Given the description of an element on the screen output the (x, y) to click on. 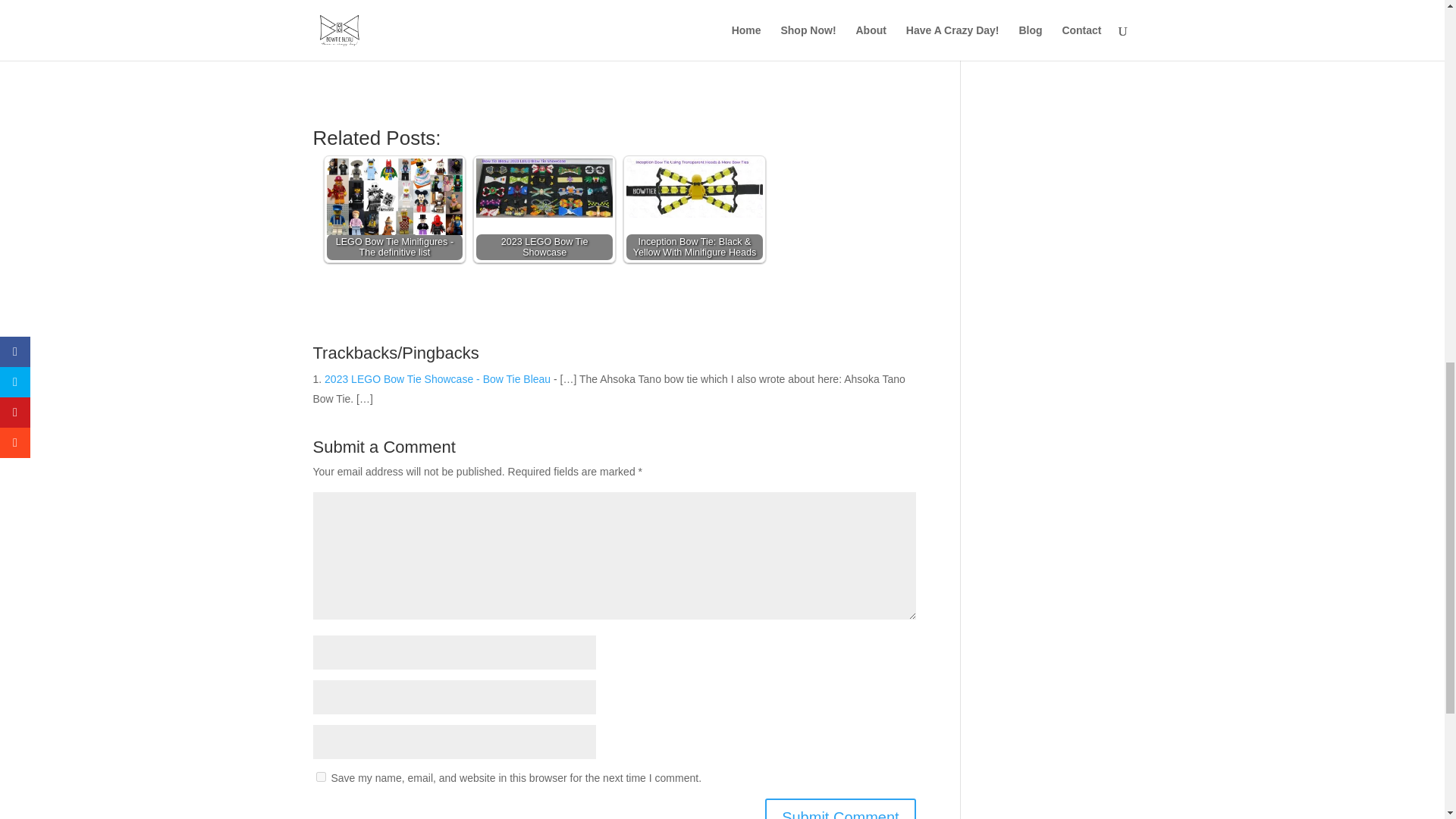
Submit Comment (840, 808)
2023 LEGO Bow Tie Showcase - Bow Tie Bleau (437, 378)
2023 LEGO Bow Tie Showcase (544, 209)
2023 LEGO Bow Tie Showcase (544, 188)
yes (319, 777)
LEGO Bow Tie Minifigures - The definitive list (394, 209)
Submit Comment (840, 808)
LEGO Bow Tie Minifigures - The definitive list (394, 196)
